Given the description of an element on the screen output the (x, y) to click on. 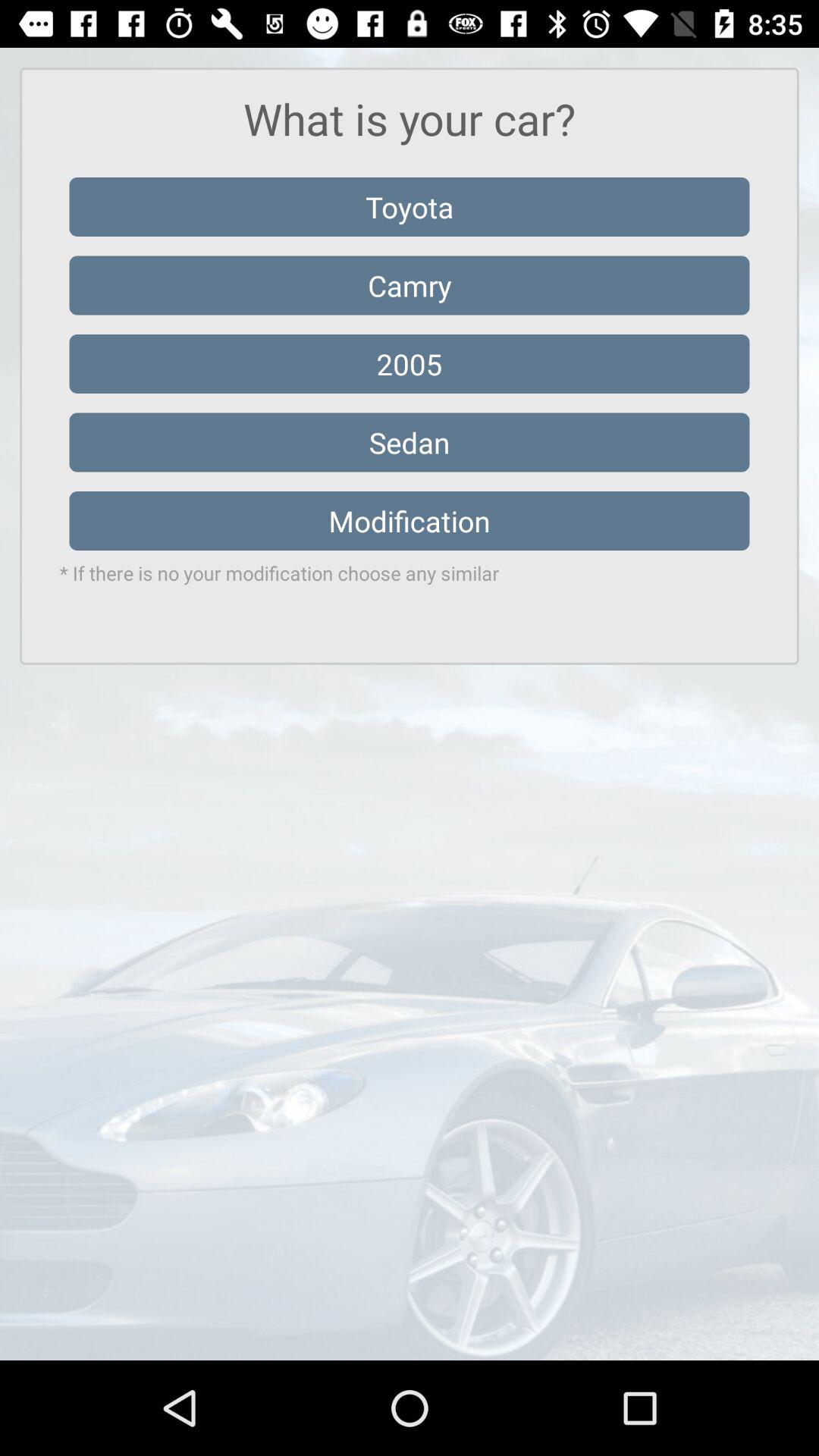
jump until toyota icon (409, 206)
